Given the description of an element on the screen output the (x, y) to click on. 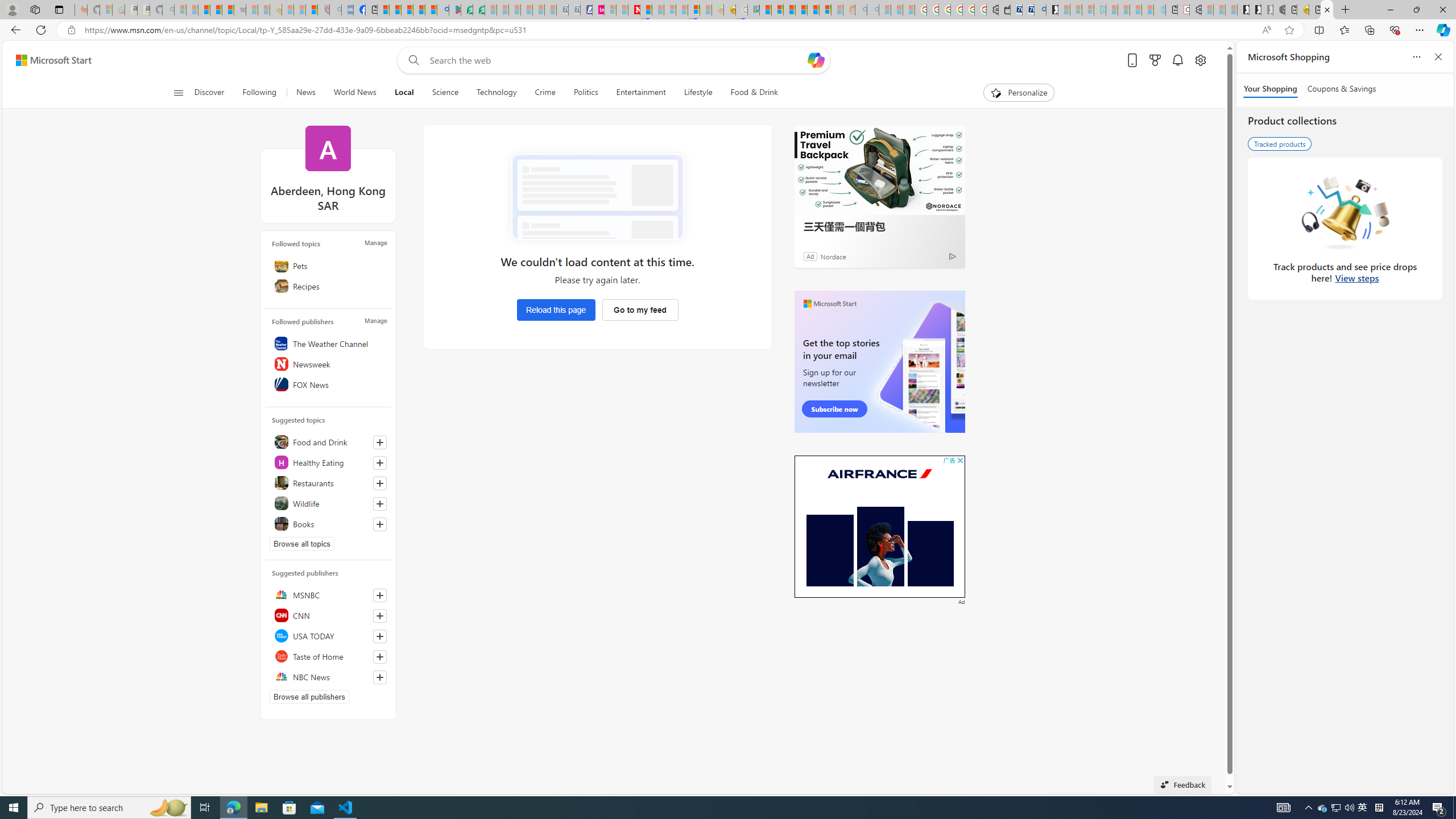
Error (597, 196)
Microsoft-Report a Concern to Bing - Sleeping (105, 9)
NBC News (327, 676)
Books (327, 523)
Restaurants (327, 482)
Healthy Eating (327, 461)
Nordace (832, 256)
The Weather Channel (327, 343)
Reload this page (555, 309)
Technology (496, 92)
Local (403, 92)
